Given the description of an element on the screen output the (x, y) to click on. 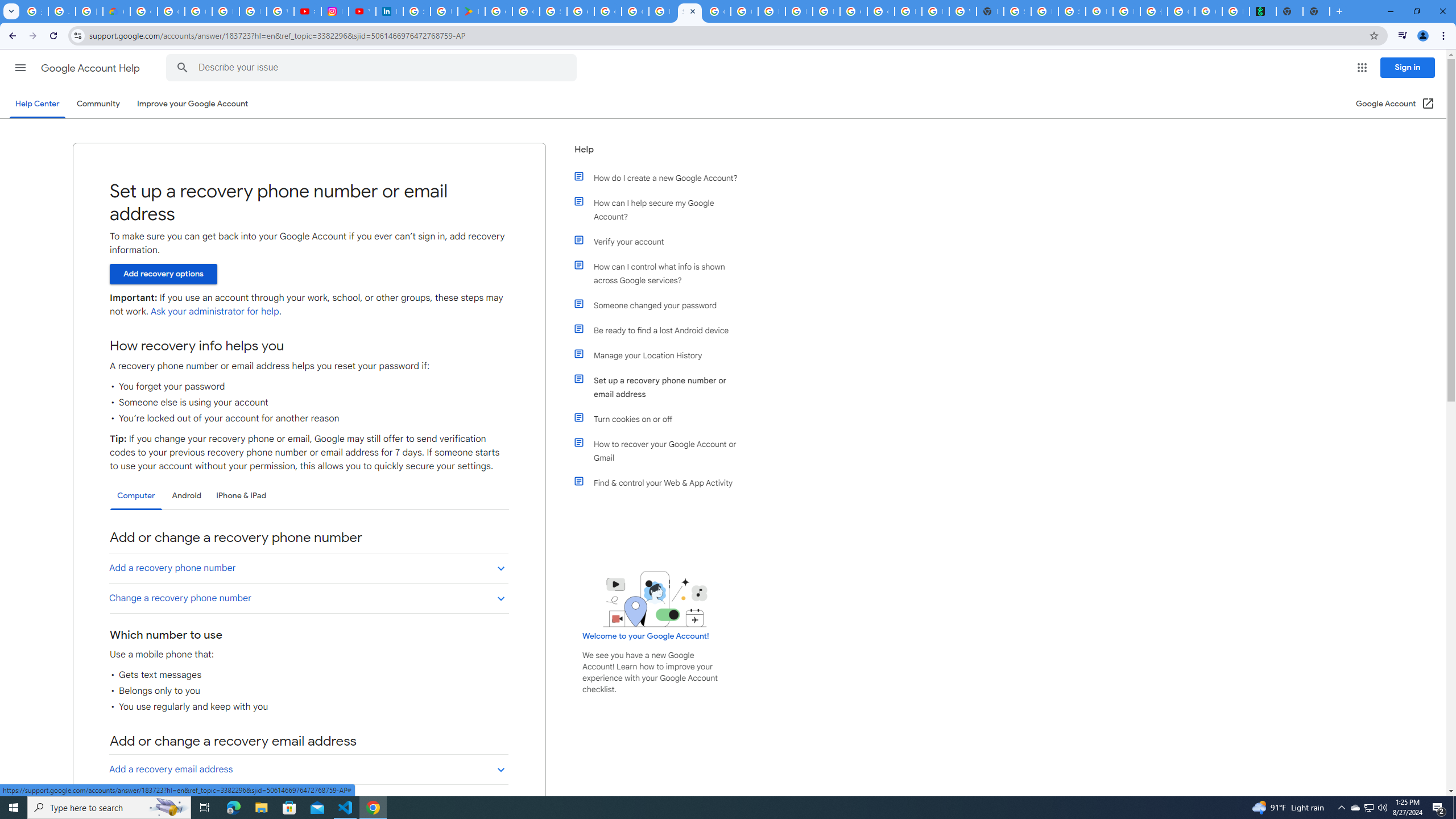
Google Account Help (91, 68)
New Tab (990, 11)
Change a recovery email address (308, 799)
Welcome to your Google Account! (645, 635)
Search Help Center (181, 67)
YouTube Culture & Trends - On The Rise: Handcam Videos (362, 11)
Add recovery options (162, 273)
